Given the description of an element on the screen output the (x, y) to click on. 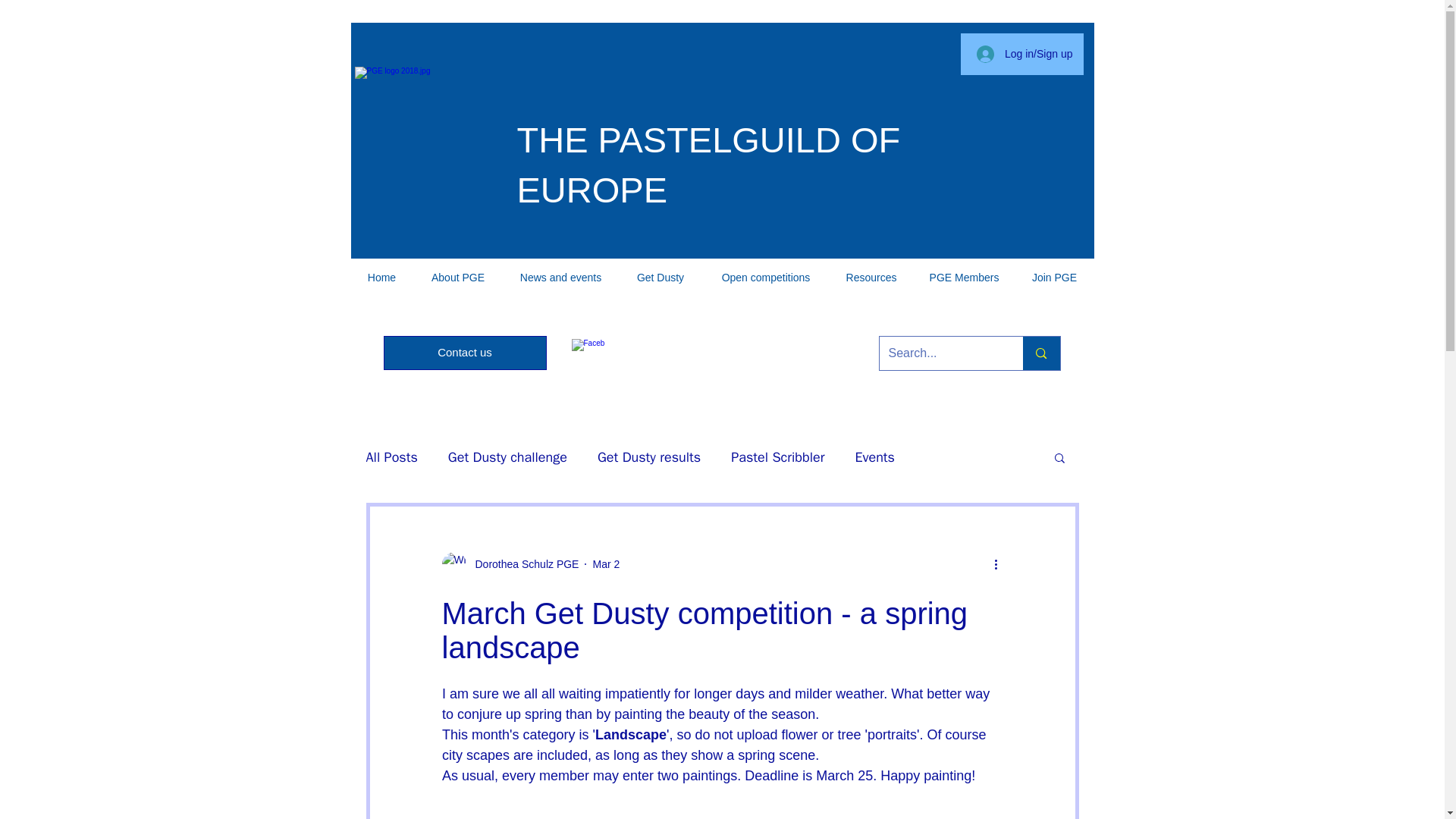
Get Dusty (659, 277)
Dorothea Schulz PGE (521, 564)
Mar 2 (606, 563)
News and events (560, 277)
Contact us (465, 352)
PGE Members (964, 277)
About PGE (457, 277)
Get Dusty challenge (507, 456)
Pastel Scribbler (777, 456)
Join PGE (1054, 277)
